Given the description of an element on the screen output the (x, y) to click on. 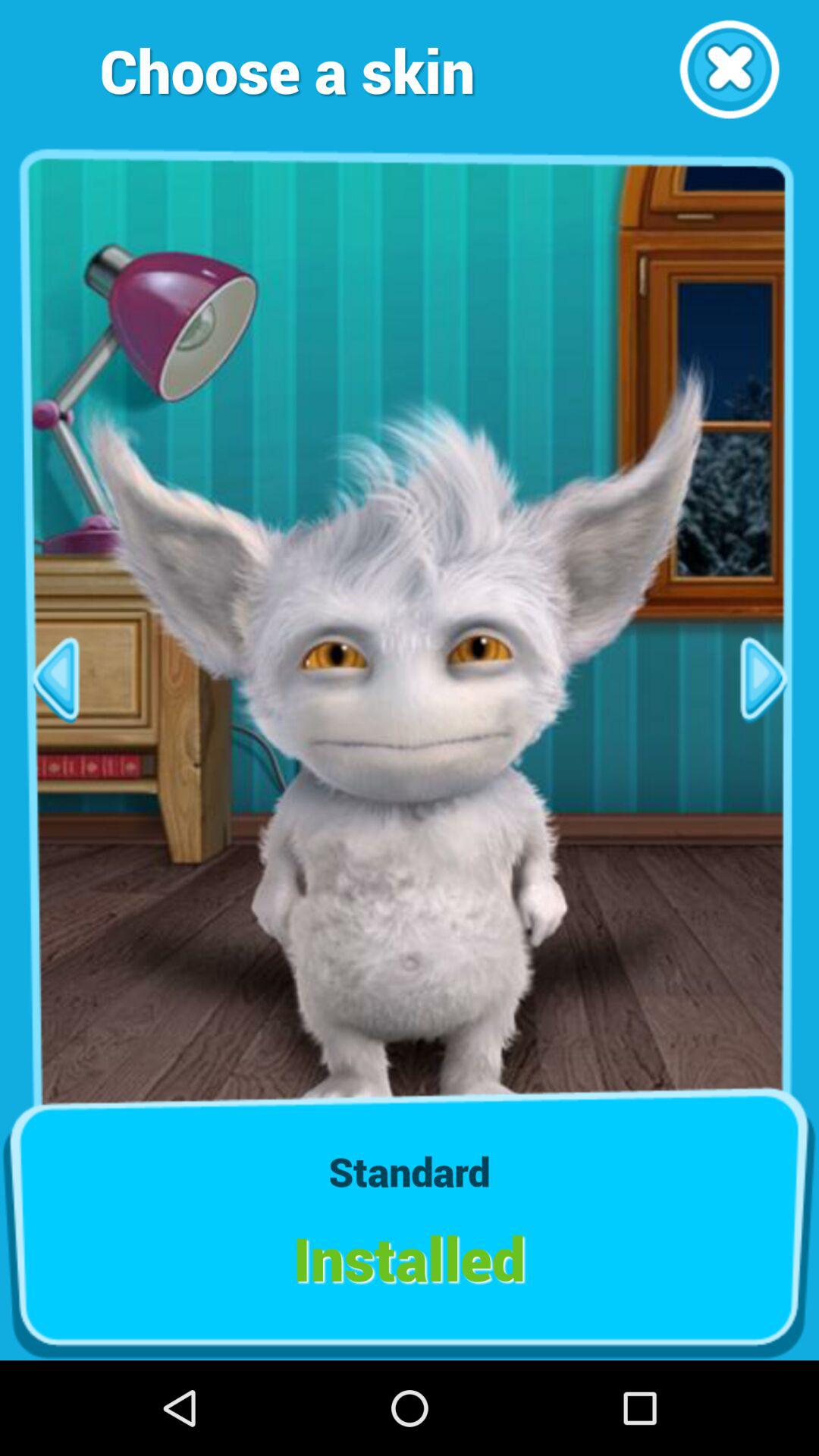
touch to close the page (729, 69)
